Given the description of an element on the screen output the (x, y) to click on. 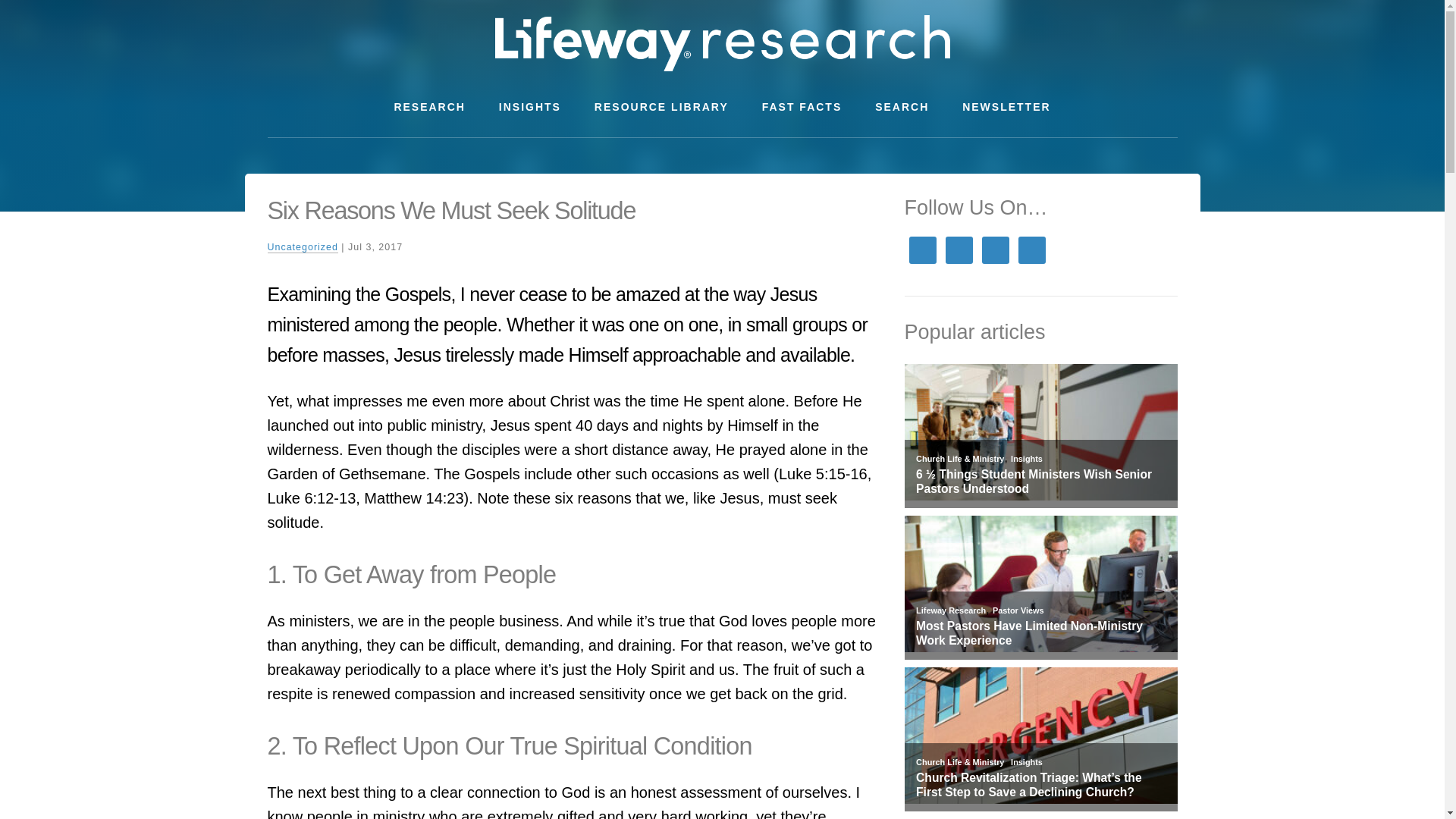
Most Pastors Have Limited Non-Ministry Work Experience (1040, 633)
SEARCH (901, 106)
RESEARCH (429, 106)
RESOURCE LIBRARY (661, 106)
Insights (1026, 458)
Uncategorized (301, 247)
Lifeway Research (950, 610)
FAST FACTS (801, 106)
Insights (1026, 761)
INSIGHTS (529, 106)
